Given the description of an element on the screen output the (x, y) to click on. 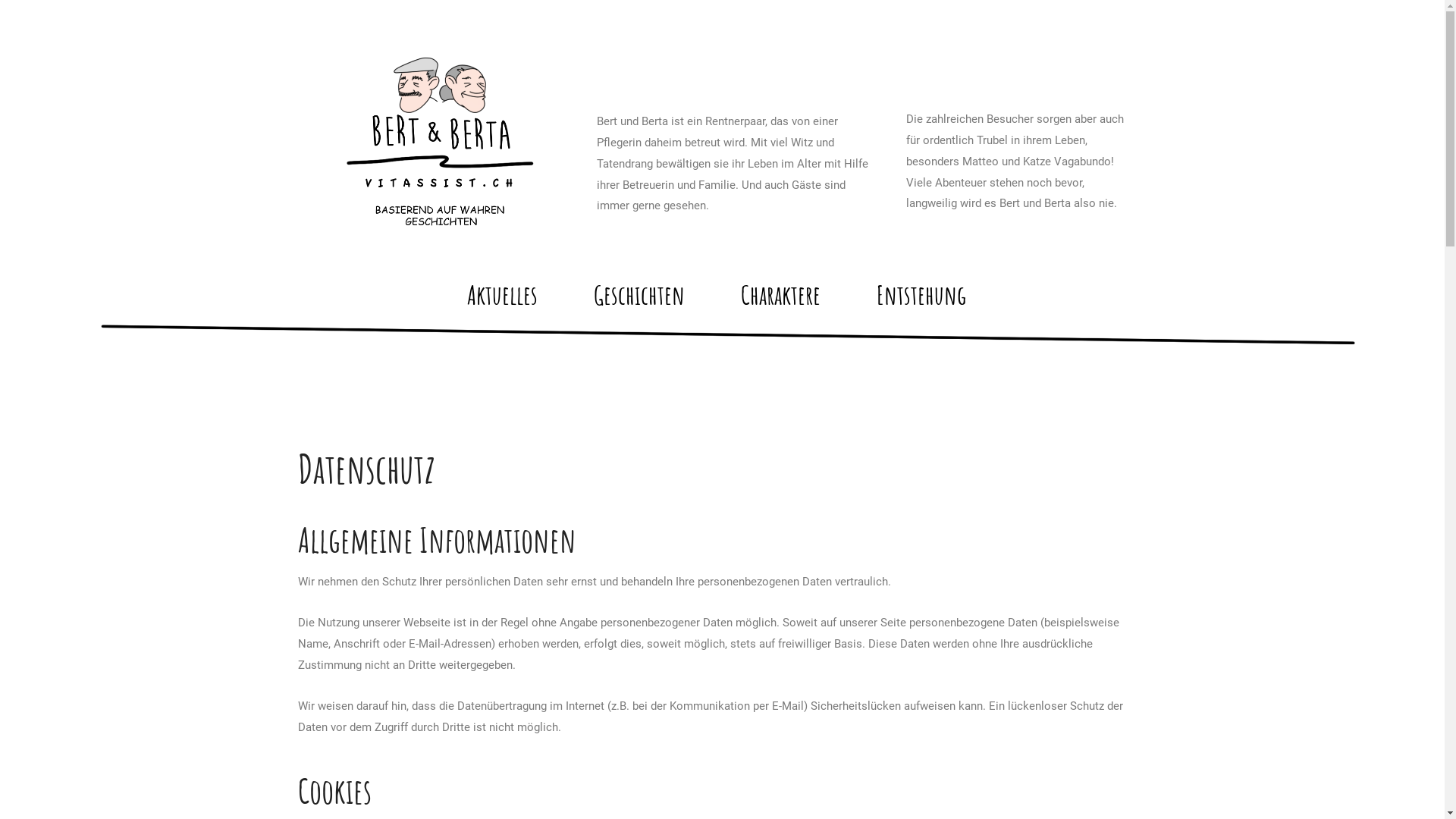
Geschichten Element type: text (639, 294)
Aktuelles Element type: text (502, 294)
Entstehung Element type: text (921, 294)
Charaktere Element type: text (780, 294)
